Given the description of an element on the screen output the (x, y) to click on. 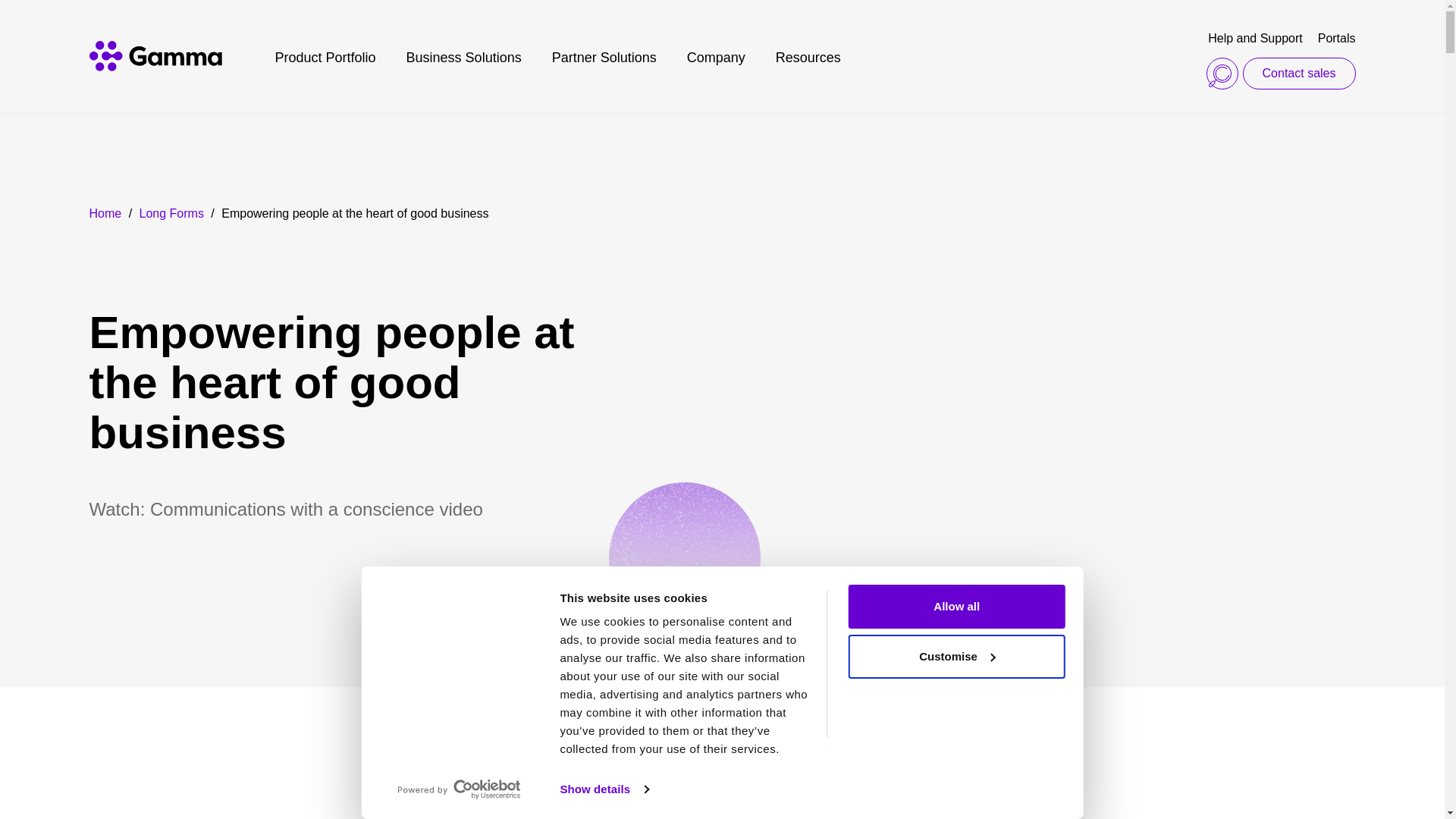
Show details (603, 789)
Cookie Policy (599, 766)
